Given the description of an element on the screen output the (x, y) to click on. 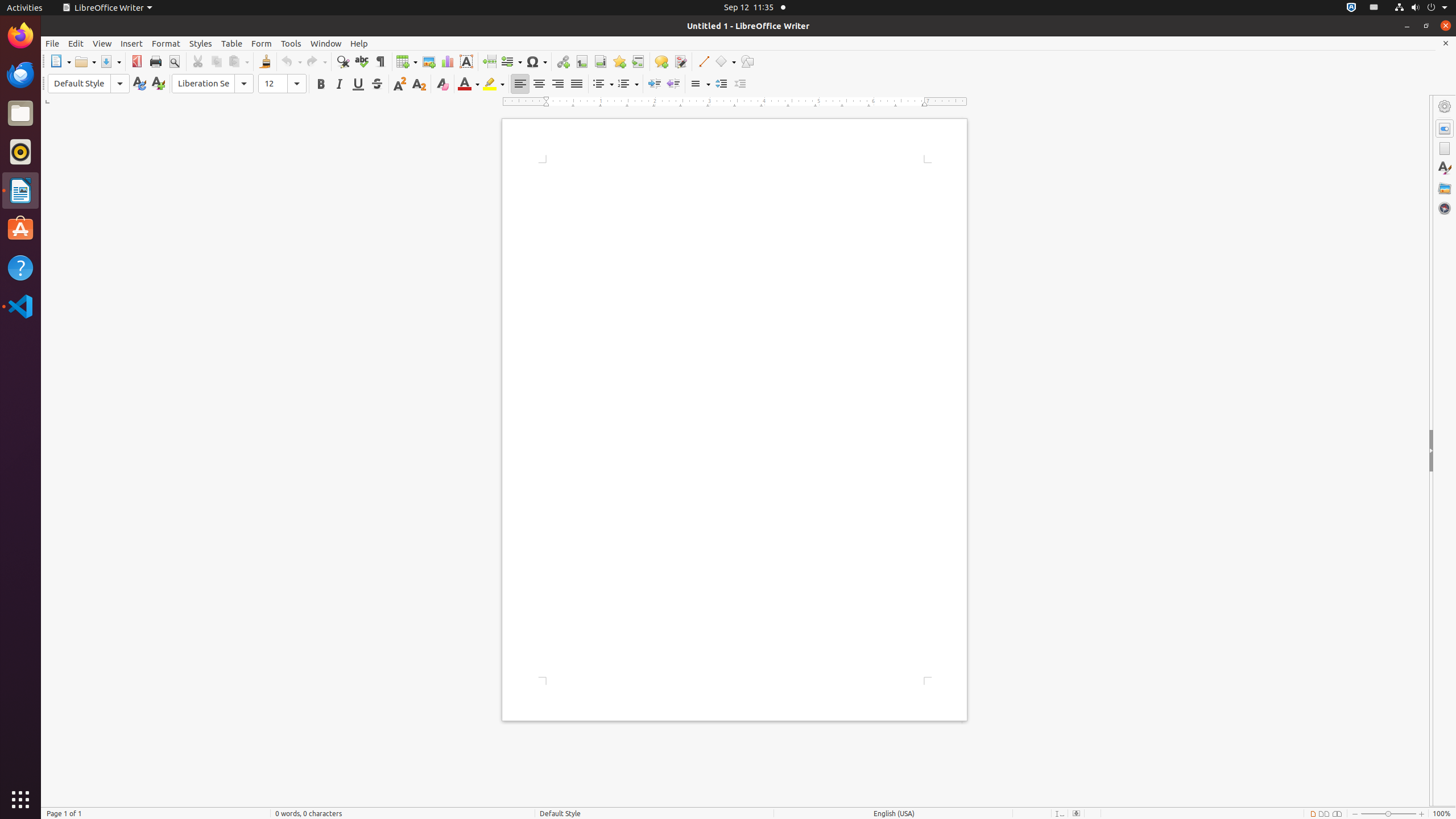
Field Element type: push-button (510, 61)
Underline Element type: push-button (357, 83)
Insert Element type: menu (131, 43)
Properties Element type: radio-button (1444, 128)
Draw Functions Element type: push-button (746, 61)
